Given the description of an element on the screen output the (x, y) to click on. 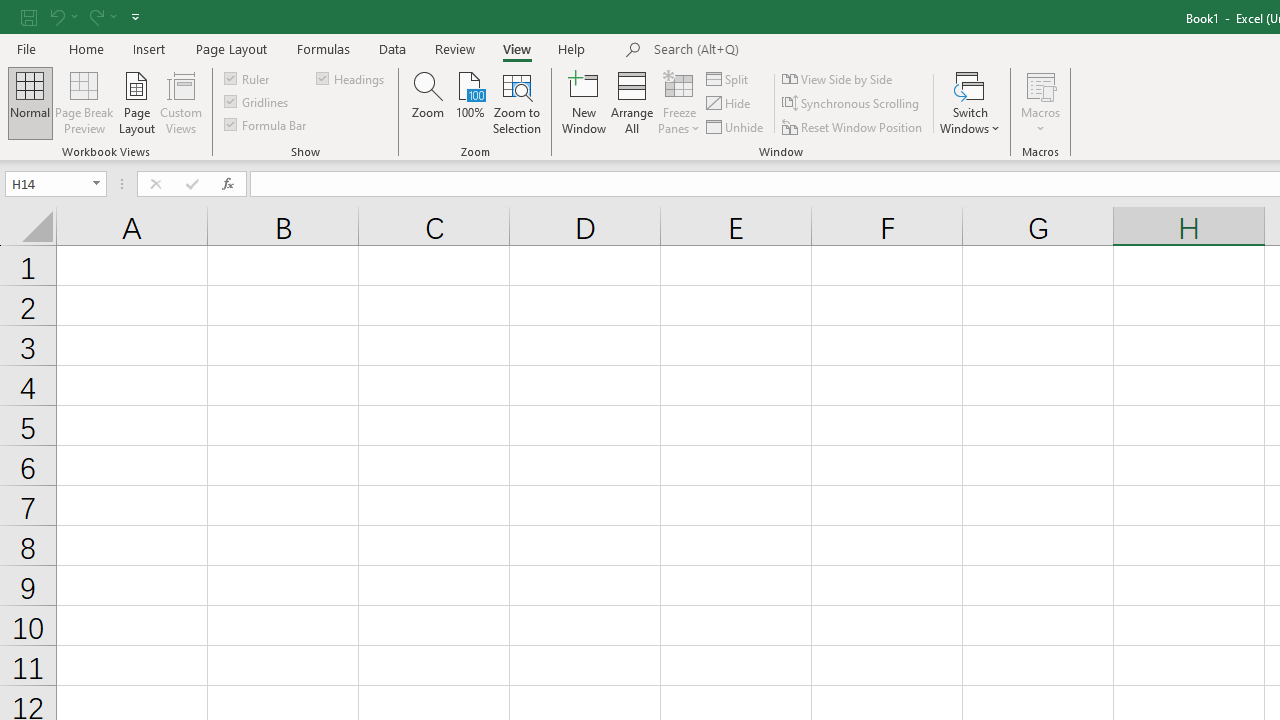
Arrange All (632, 102)
